Given the description of an element on the screen output the (x, y) to click on. 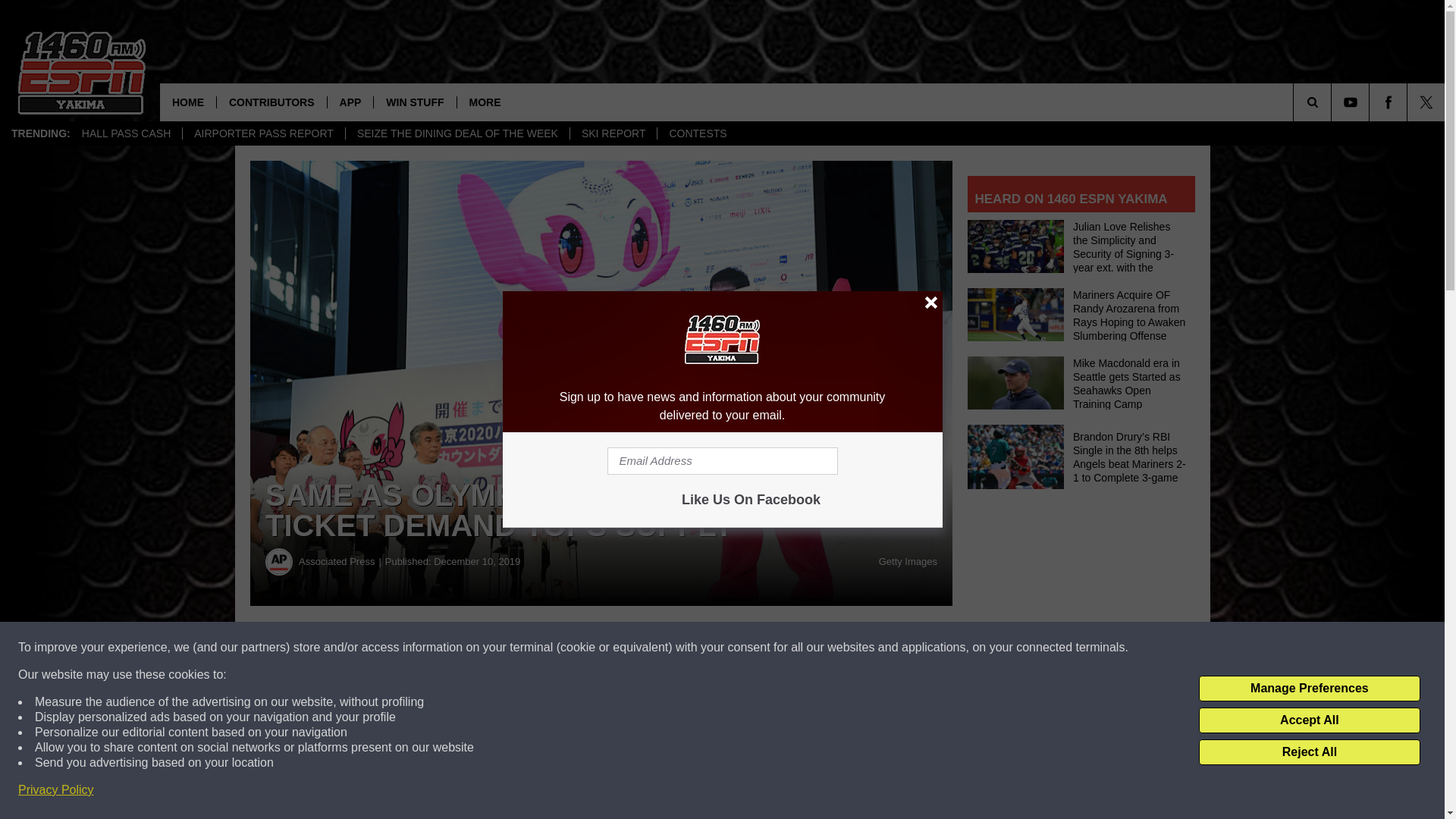
SEIZE THE DINING DEAL OF THE WEEK (457, 133)
Share on Twitter (741, 647)
SEARCH (1333, 102)
HOME (187, 102)
SEARCH (1333, 102)
CONTESTS (697, 133)
MORE (485, 102)
HALL PASS CASH (126, 133)
SKI REPORT (613, 133)
WIN STUFF (413, 102)
Privacy Policy (55, 789)
Manage Preferences (1309, 688)
Email Address (722, 461)
AIRPORTER PASS REPORT (263, 133)
Share on Facebook (460, 647)
